Given the description of an element on the screen output the (x, y) to click on. 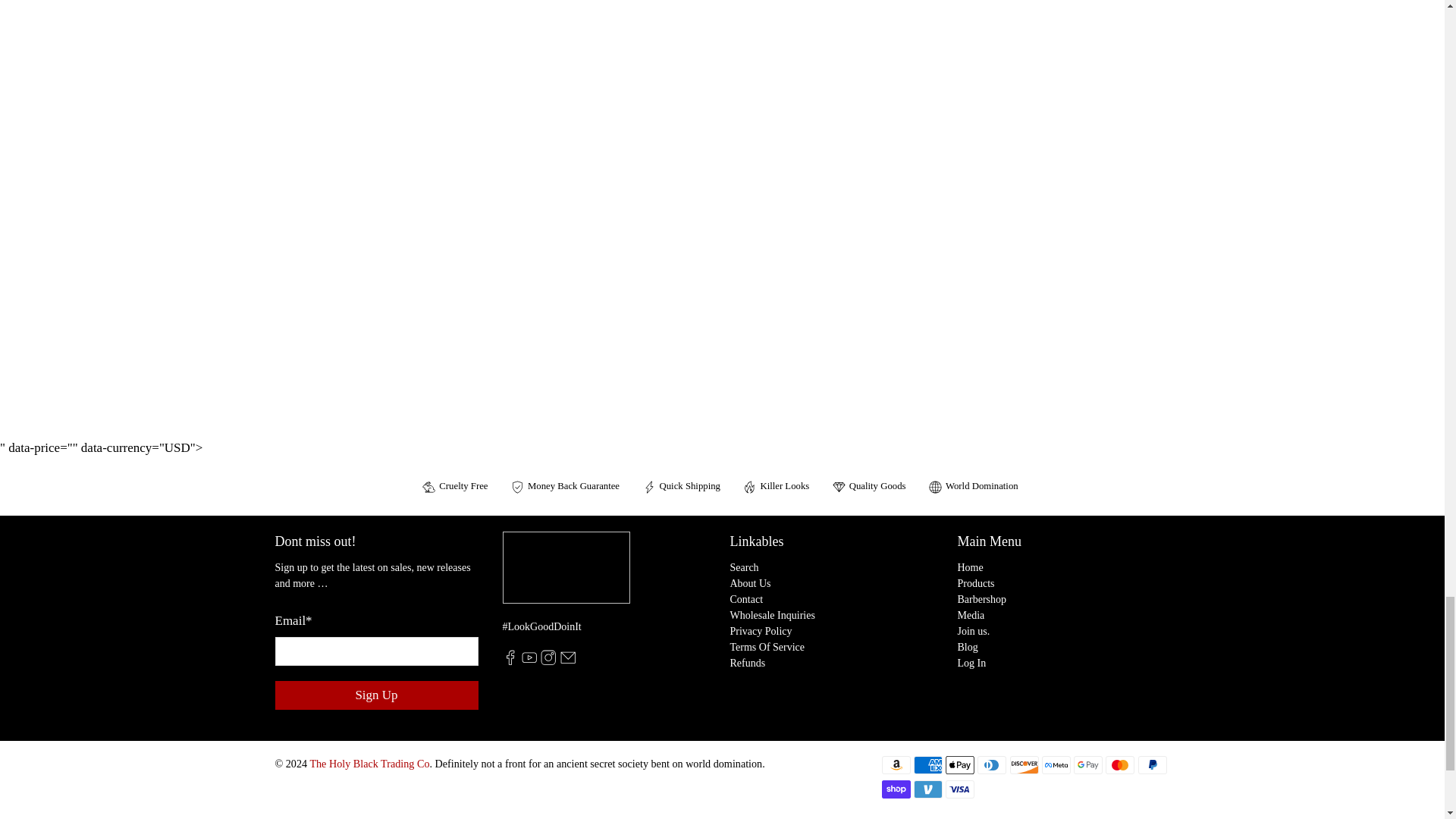
The Holy Black Trading Co on Instagram (548, 661)
Discover (1024, 764)
The Holy Black Trading Co on YouTube (529, 661)
American Express (928, 764)
Diners Club (991, 764)
The Holy Black Trading Co (565, 575)
Amazon (895, 764)
Apple Pay (959, 764)
The Holy Black Trading Co on Facebook (509, 661)
Email The Holy Black Trading Co (567, 661)
